Given the description of an element on the screen output the (x, y) to click on. 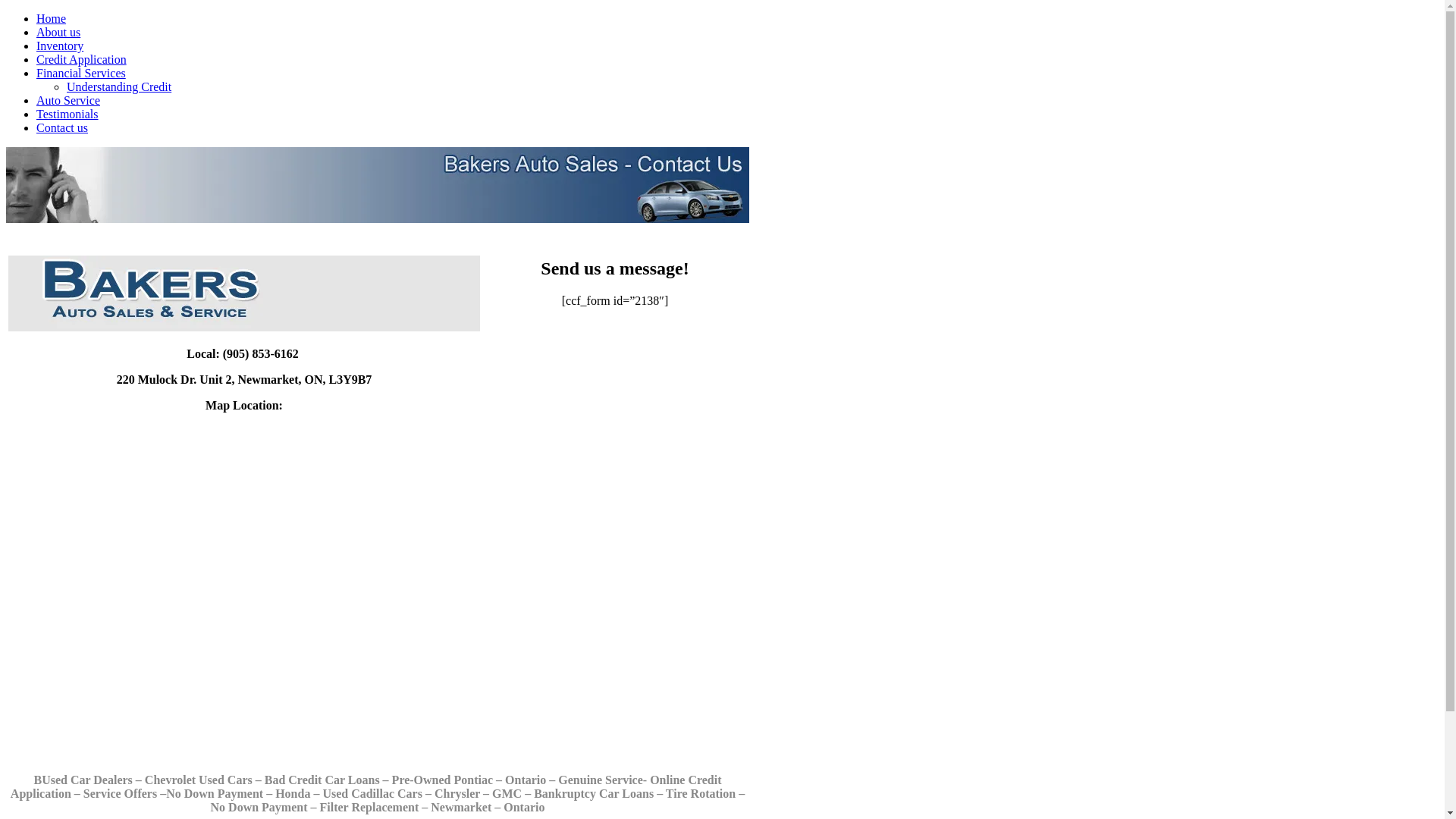
blue-logo Element type: hover (244, 293)
Inventory Element type: text (59, 45)
Home Element type: text (50, 18)
Financial Services Element type: text (80, 72)
Credit Application Element type: text (81, 59)
Contact us Element type: text (61, 127)
Understanding Credit Element type: text (118, 86)
About us Element type: text (58, 31)
contact Element type: hover (377, 184)
Testimonials Element type: text (67, 113)
Auto Service Element type: text (68, 100)
